Given the description of an element on the screen output the (x, y) to click on. 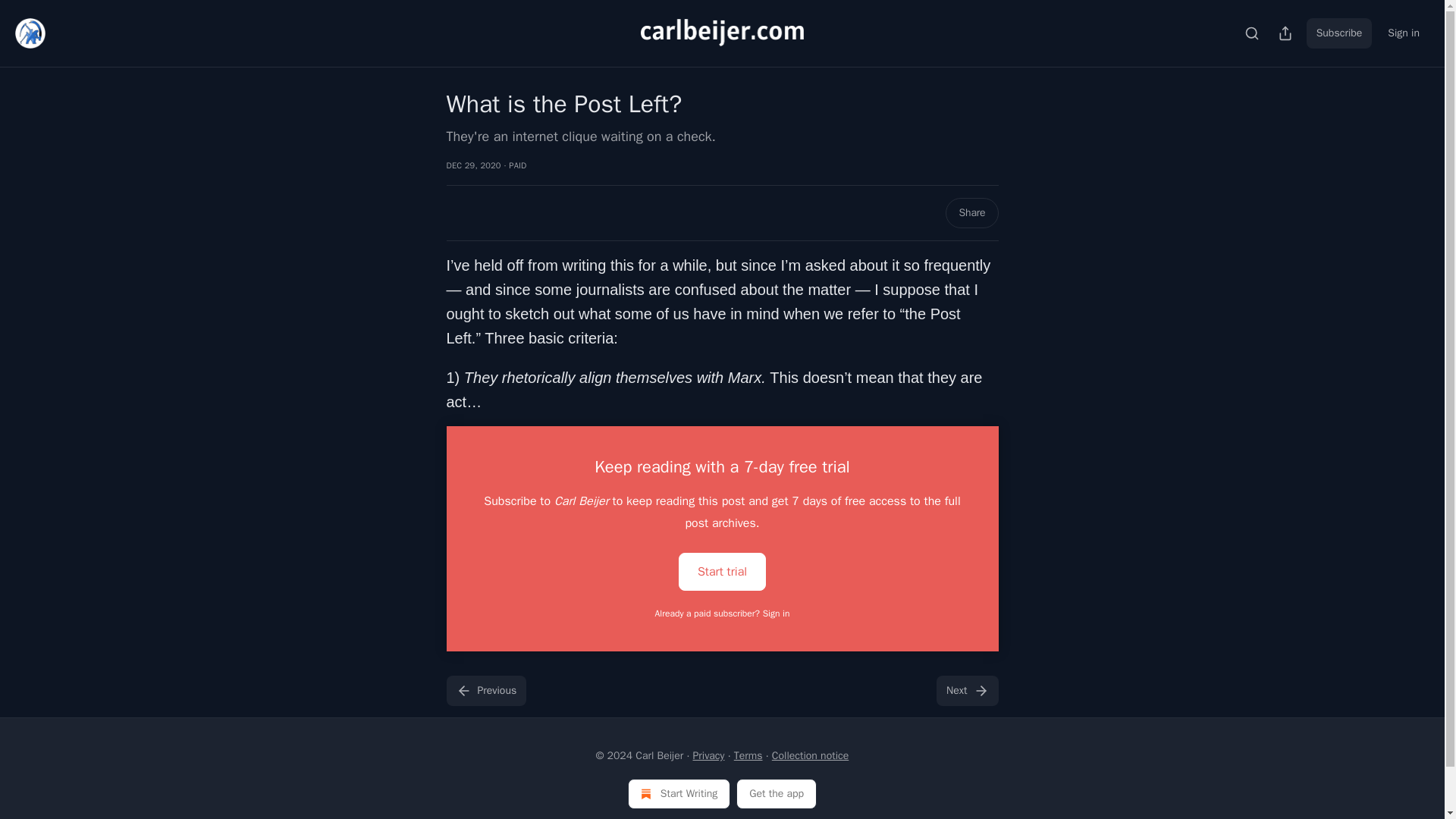
Start trial (721, 570)
Previous (485, 690)
Collection notice (809, 755)
Subscribe (1339, 33)
Start Writing (678, 793)
Next (966, 690)
Privacy (709, 755)
Get the app (776, 793)
Terms (747, 755)
Start trial (721, 571)
